Given the description of an element on the screen output the (x, y) to click on. 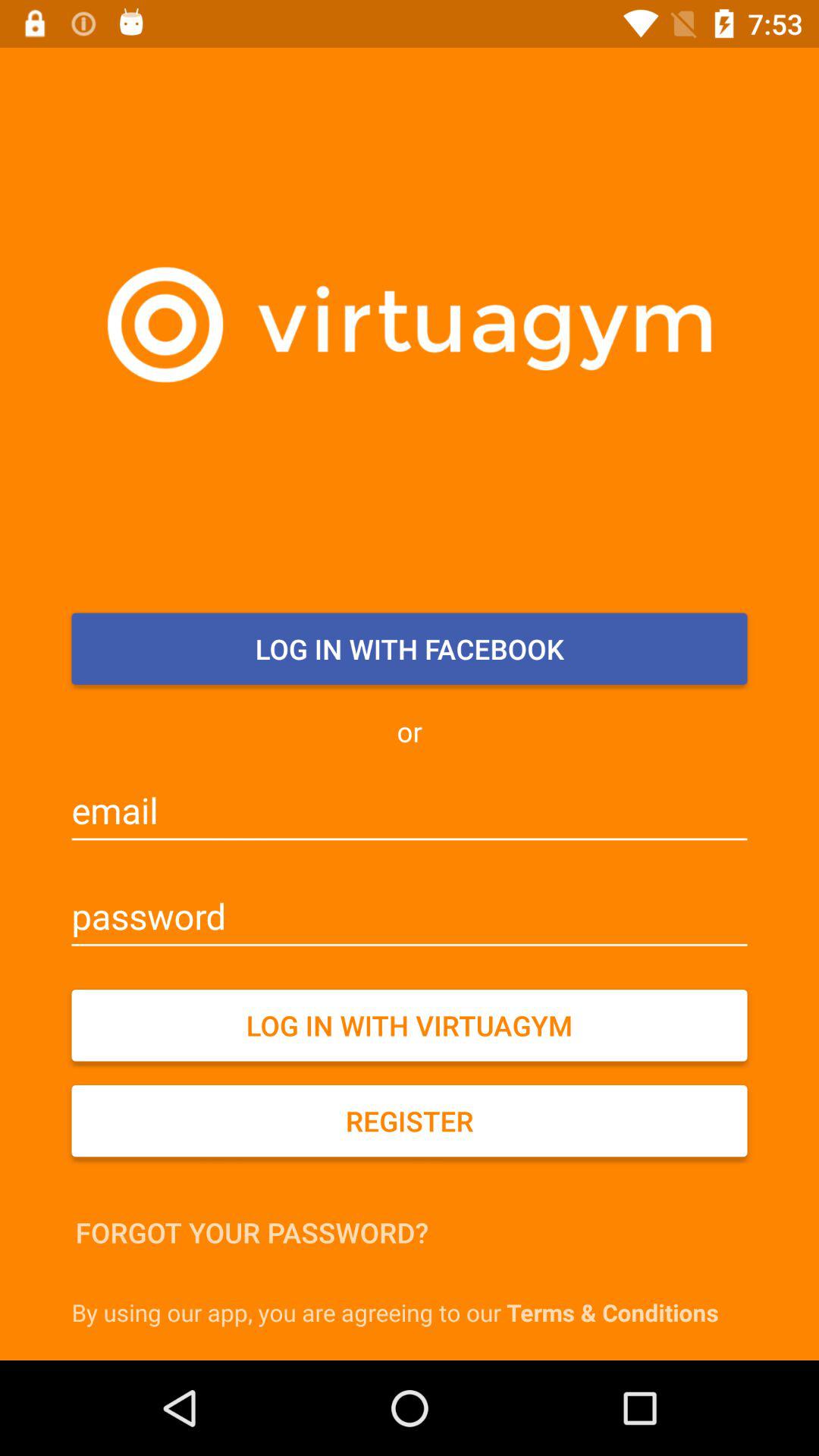
select forgot your password? at the bottom left corner (251, 1232)
